Given the description of an element on the screen output the (x, y) to click on. 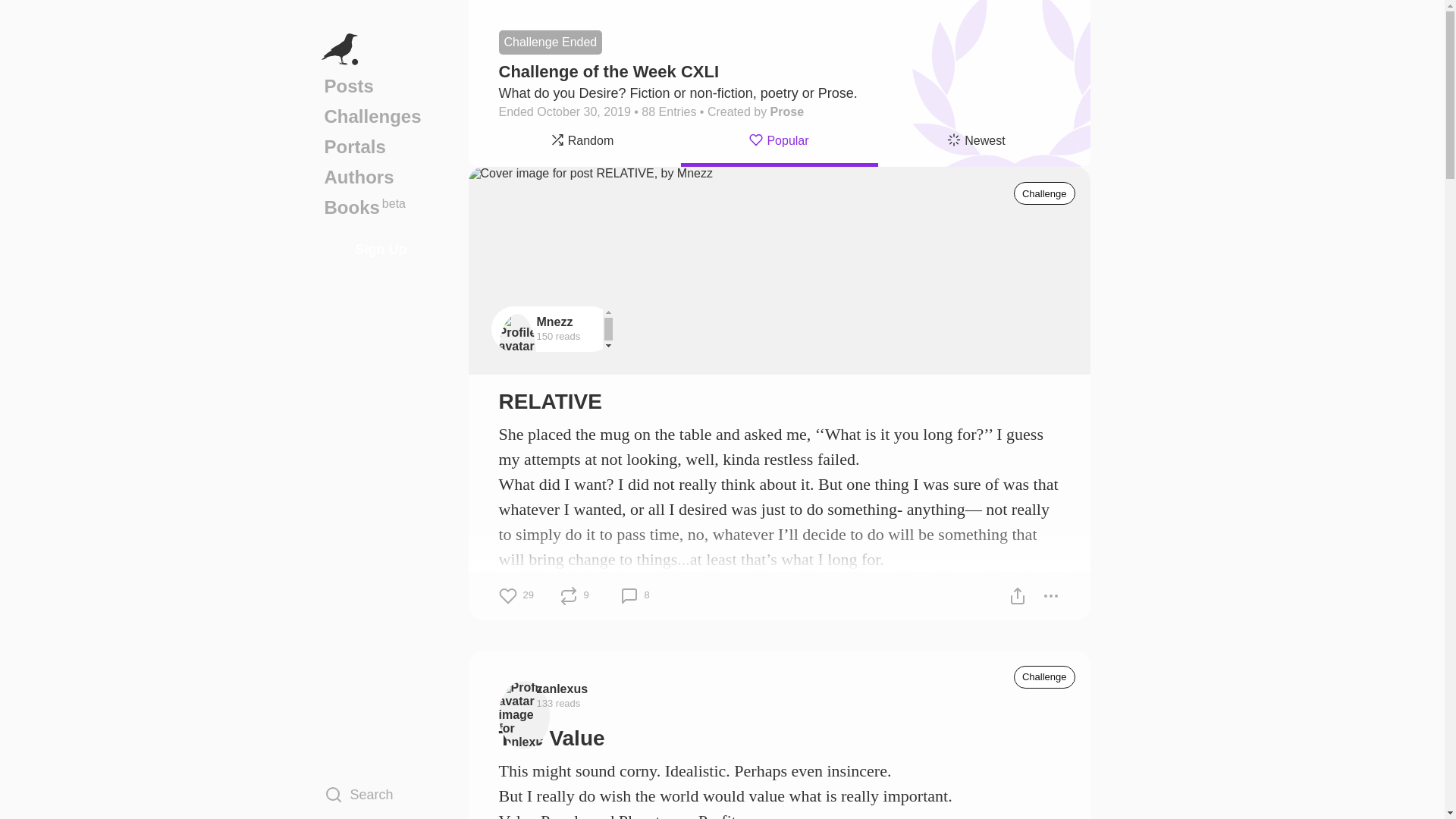
Challenges (381, 116)
Prose (786, 111)
Challenge (1044, 192)
Authors (381, 177)
Portals (381, 146)
Popular (381, 207)
Challenge (779, 142)
Search (1044, 676)
zanlexus (381, 794)
Posts (562, 688)
Random (381, 86)
Newest (582, 142)
Mnezz (976, 142)
